Given the description of an element on the screen output the (x, y) to click on. 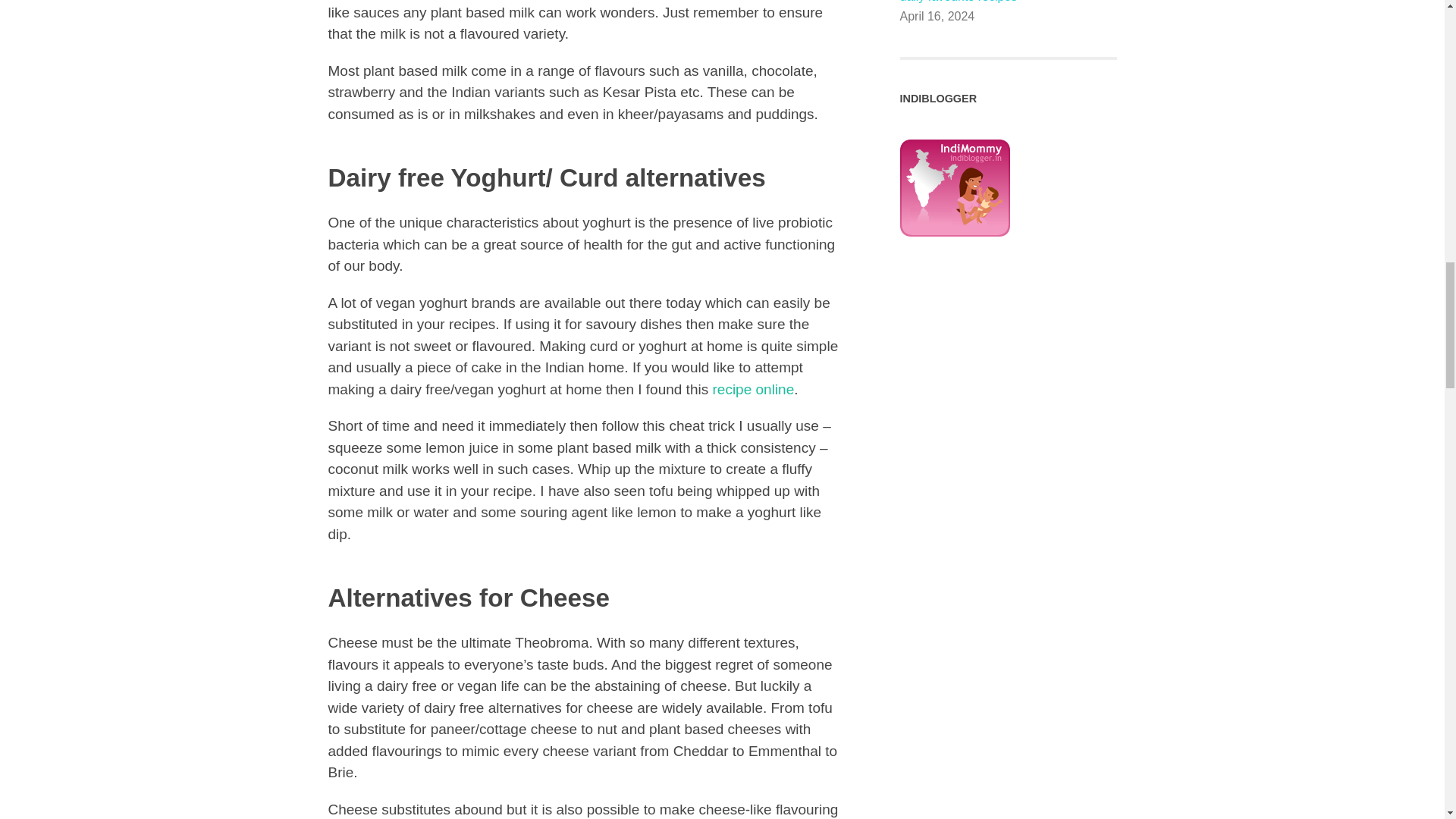
IndiBlogger - The Largest Indian Blogger Community (954, 283)
recipe online (752, 389)
